Given the description of an element on the screen output the (x, y) to click on. 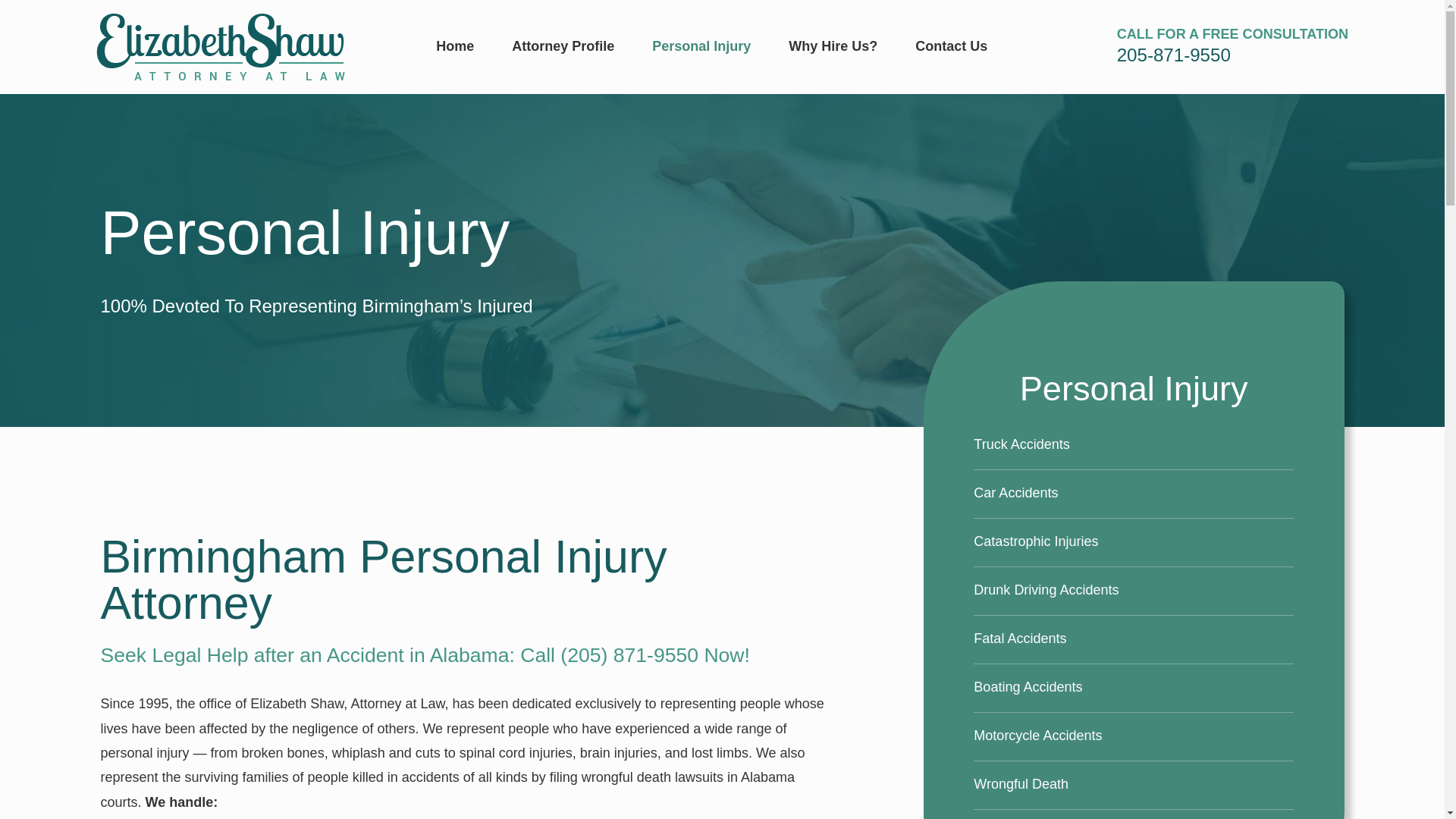
205-871-9550 (1173, 55)
Home (220, 46)
Attorney Profile (563, 46)
Contact Us (951, 46)
Why Hire Us? (833, 46)
Personal Injury (701, 46)
